Given the description of an element on the screen output the (x, y) to click on. 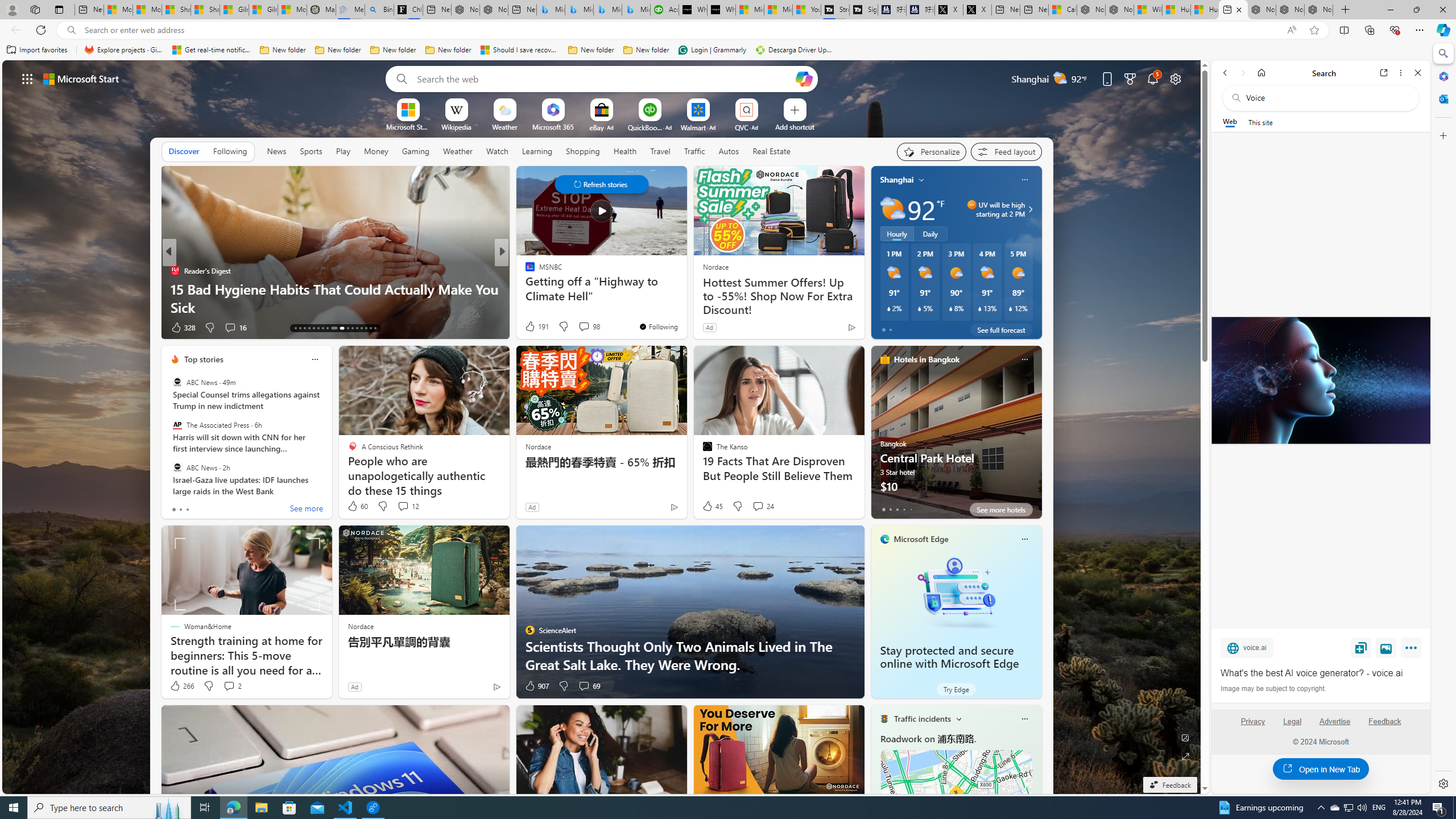
ETNT Mind+Body (524, 270)
Traffic Title Traffic Light (883, 718)
Streaming Coverage | T3 (835, 9)
AutomationID: tab-18 (317, 328)
Autos (729, 151)
Login | Grammarly (712, 49)
Travel (660, 151)
Weather (457, 151)
View comments 16 Comment (229, 327)
Central Park Hotel (956, 436)
How Many Sets and Reps Should You Do To Build Muscle? (684, 298)
Forward (1242, 72)
Microsoft start (81, 78)
View comments 2 Comment (232, 685)
